Given the description of an element on the screen output the (x, y) to click on. 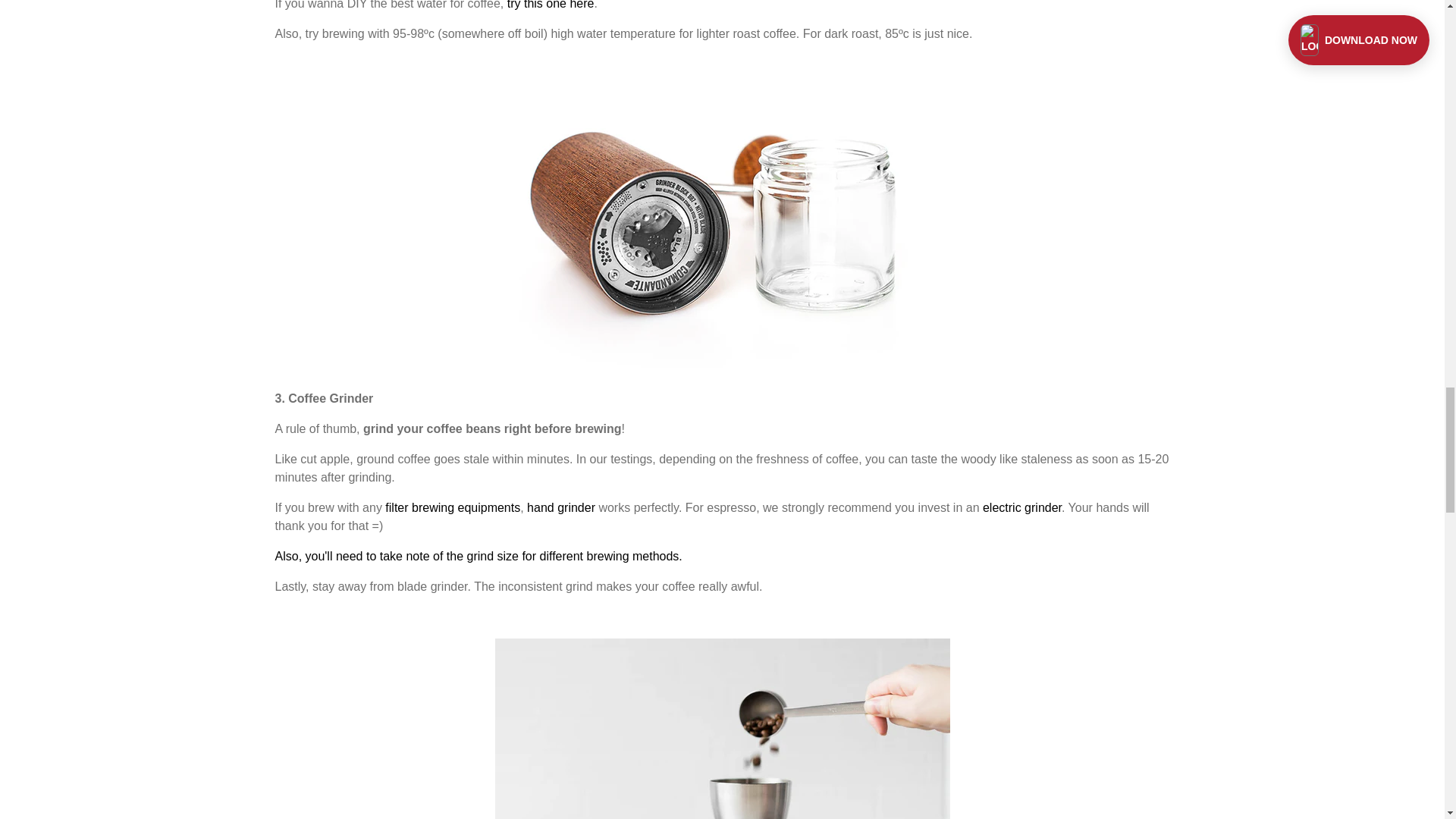
Coffee grinder (722, 367)
Coffee beans grinder (561, 507)
Important variables in coffee brewing (478, 555)
Coffee brewing Equipments (452, 507)
water for coffee (550, 4)
coffee grinder (1021, 507)
